Given the description of an element on the screen output the (x, y) to click on. 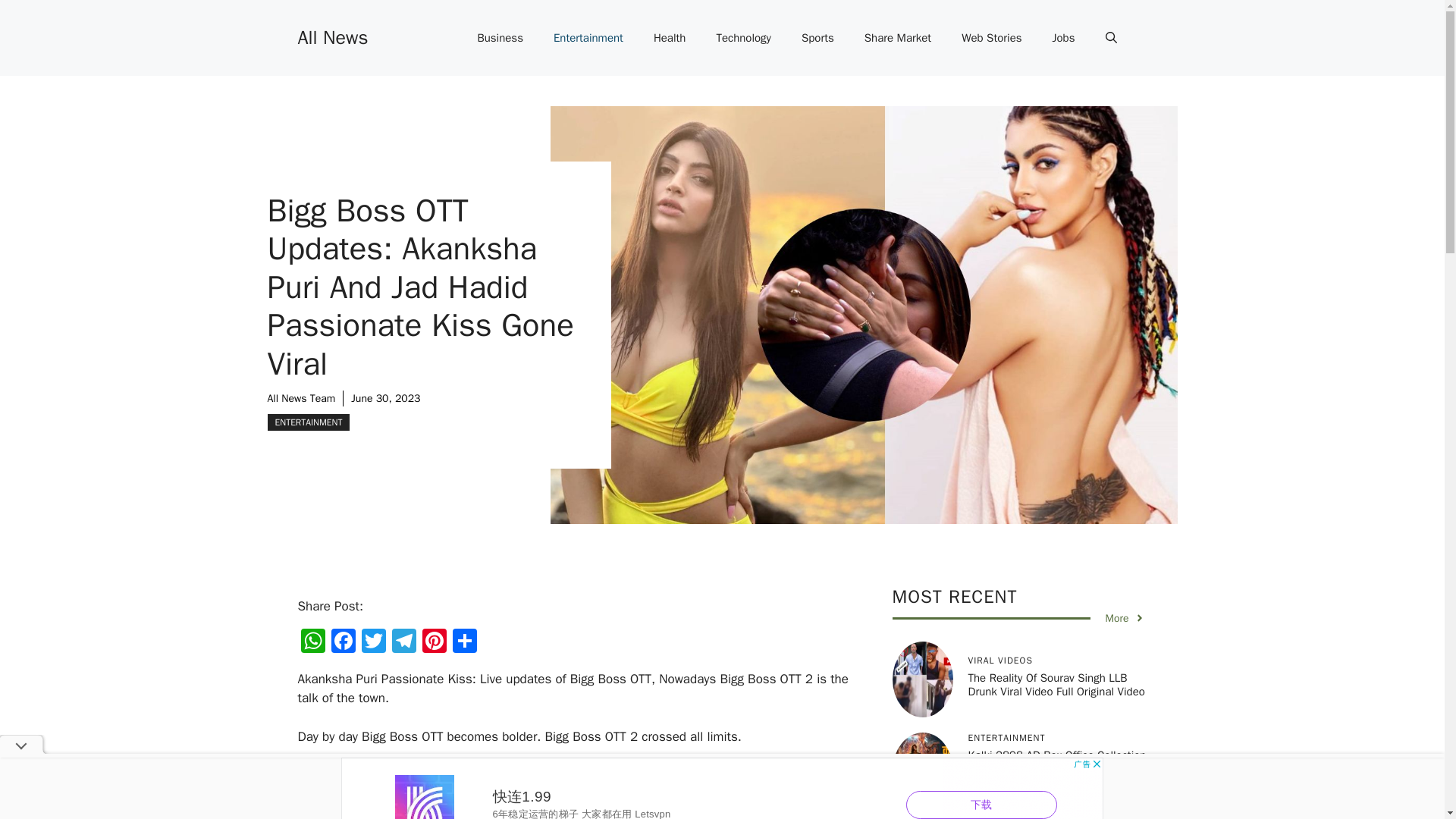
Share Market (897, 37)
Twitter (373, 642)
Facebook (342, 642)
Telegram (403, 642)
ENTERTAINMENT (307, 422)
Web Stories (991, 37)
Telegram (403, 642)
Twitter (373, 642)
WhatsApp (312, 642)
WhatsApp (312, 642)
